Given the description of an element on the screen output the (x, y) to click on. 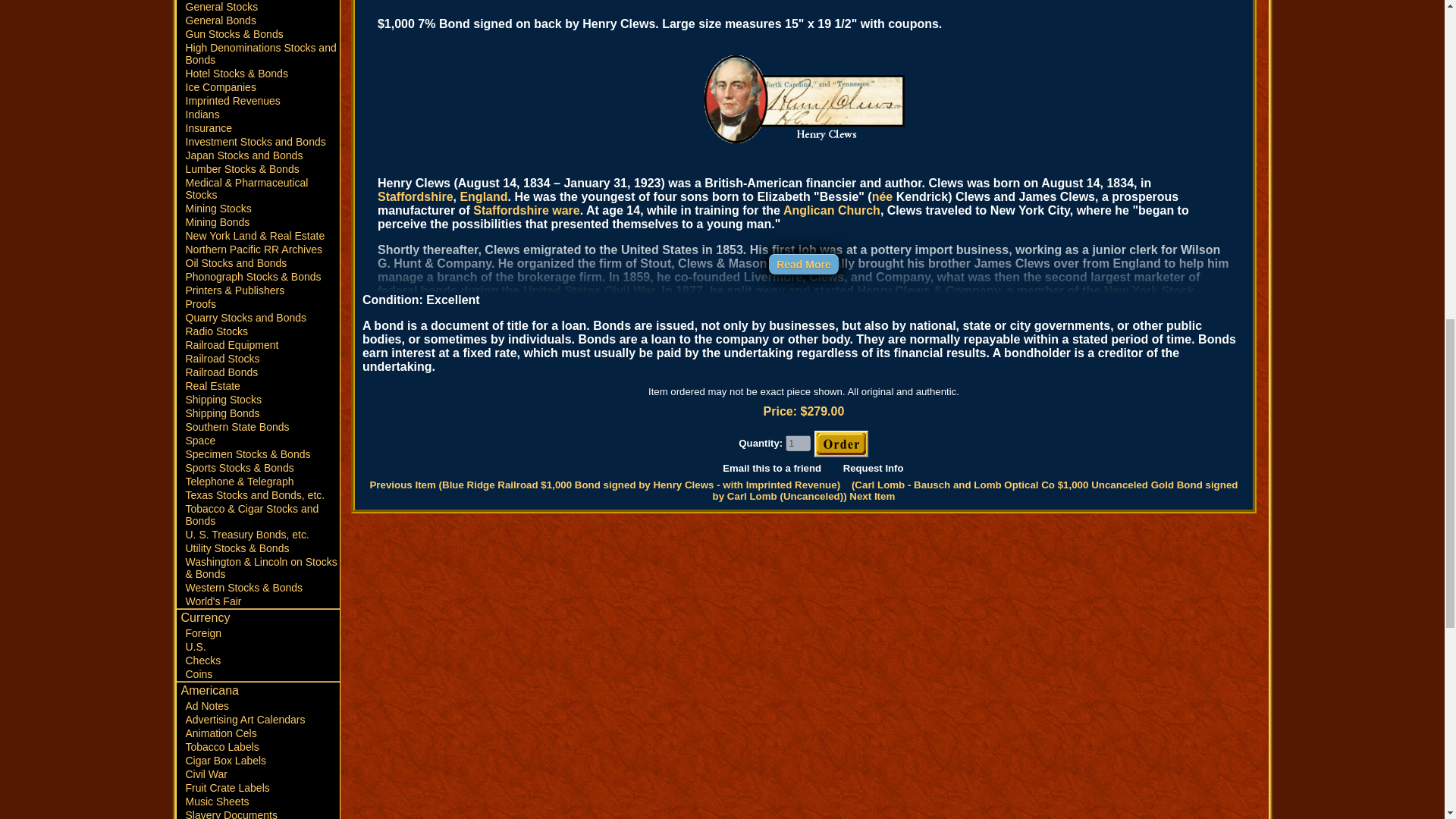
Staffordshire (414, 196)
England (483, 196)
United States Civil War (588, 290)
1 (798, 442)
Anglican Church (831, 210)
Order (840, 443)
Staffordshire ware (526, 210)
New York Stock Exchange (785, 297)
